Given the description of an element on the screen output the (x, y) to click on. 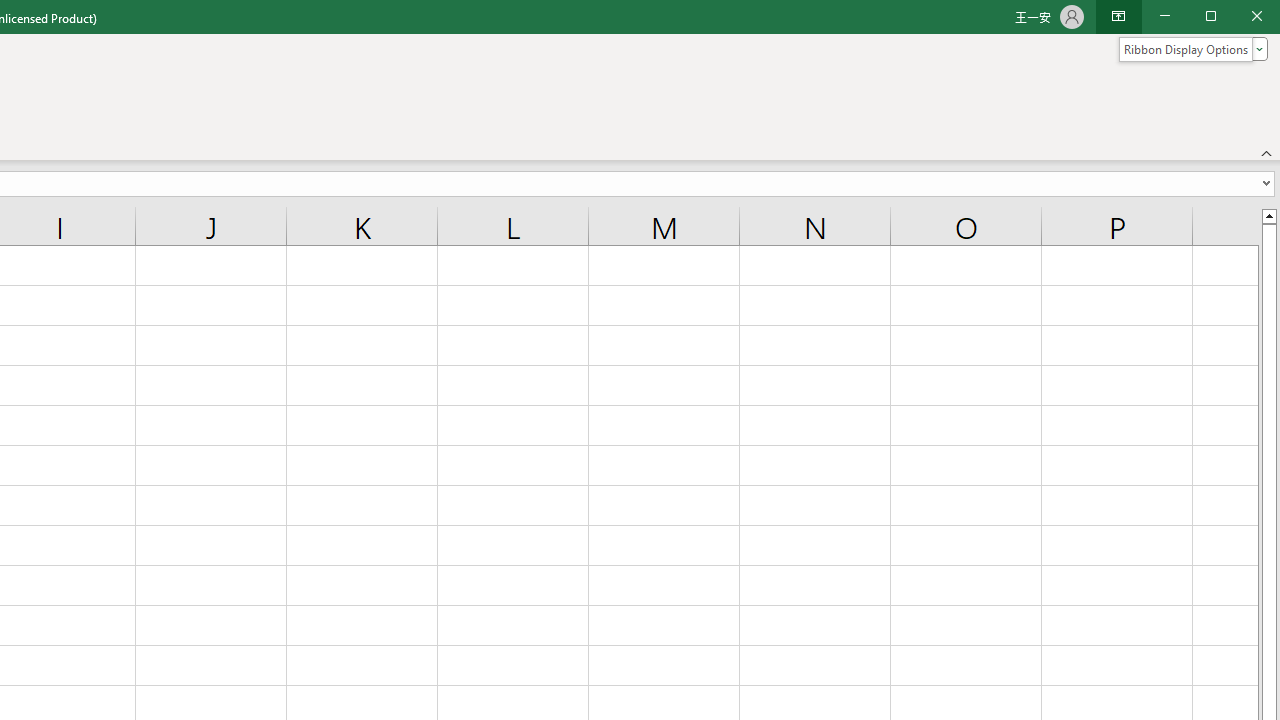
Maximize (1239, 17)
